Given the description of an element on the screen output the (x, y) to click on. 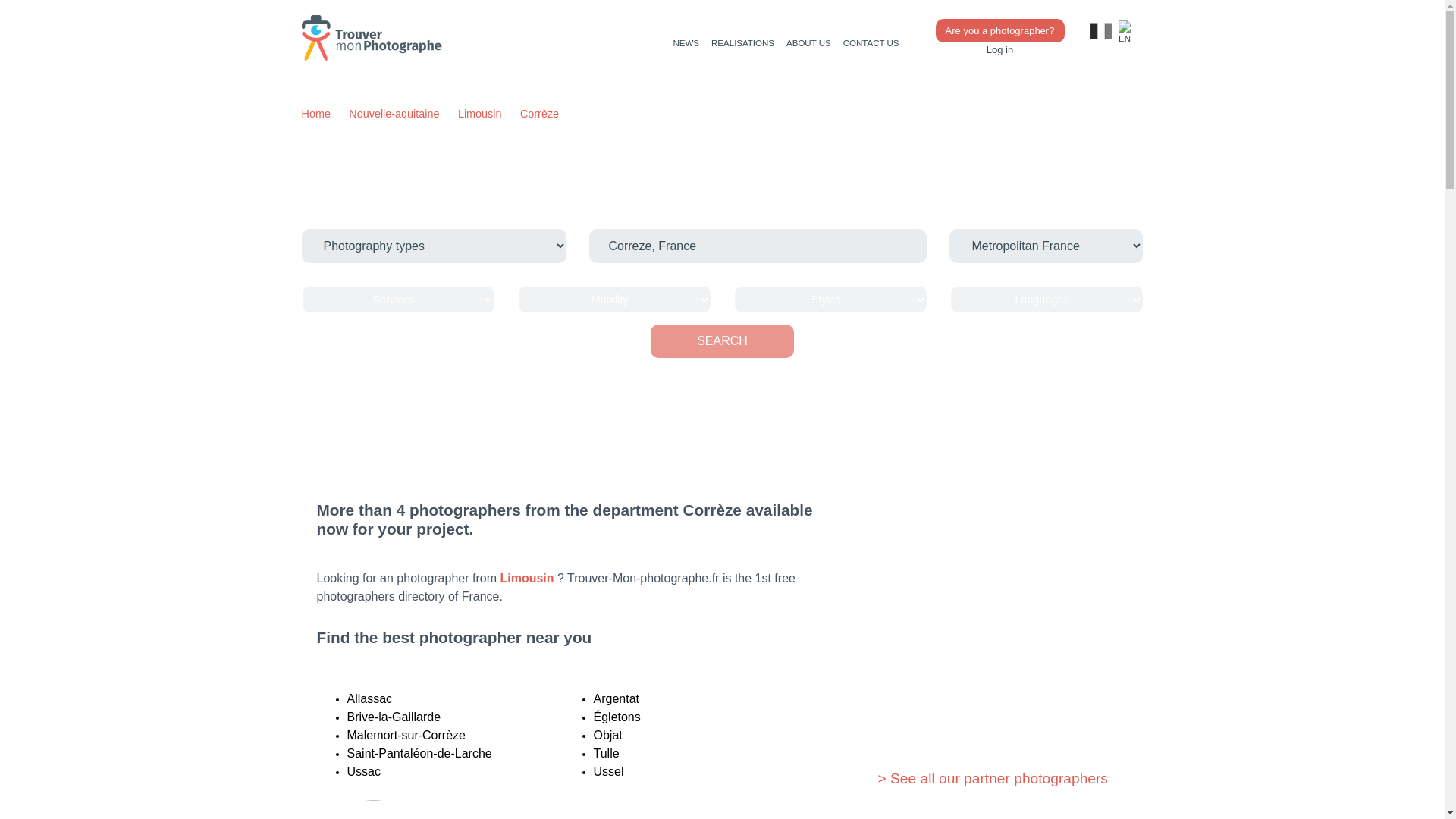
Nouvelle-aquitaine (394, 114)
ABOUT US (808, 42)
Correze, France (757, 245)
REALISATIONS (742, 42)
Log in (1000, 49)
Limousin (480, 114)
logo (376, 38)
Are you a photographer? (1000, 30)
NEWS (685, 42)
CONTACT US (871, 42)
Home (315, 114)
